Given the description of an element on the screen output the (x, y) to click on. 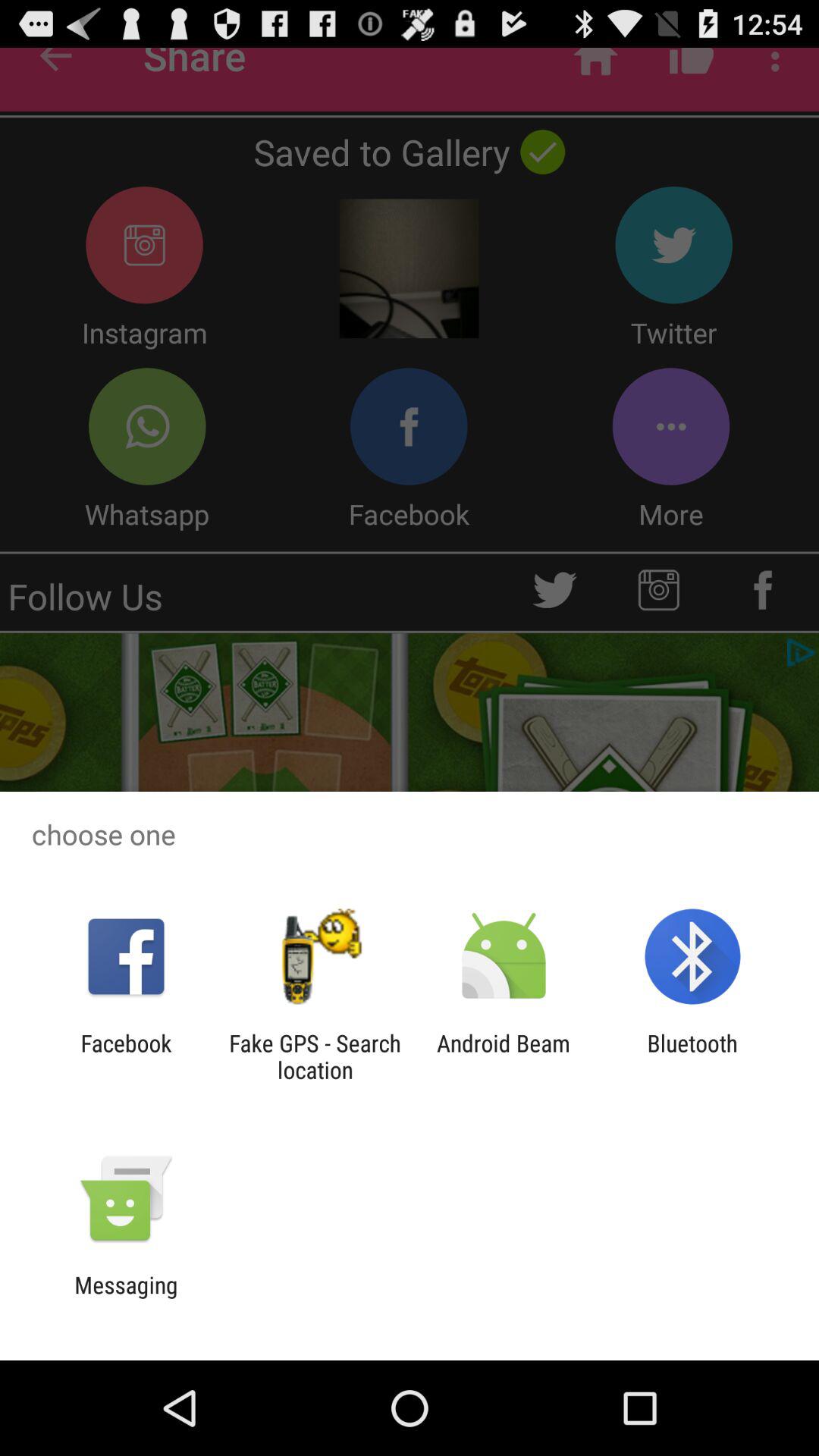
select the item at the bottom right corner (692, 1056)
